Given the description of an element on the screen output the (x, y) to click on. 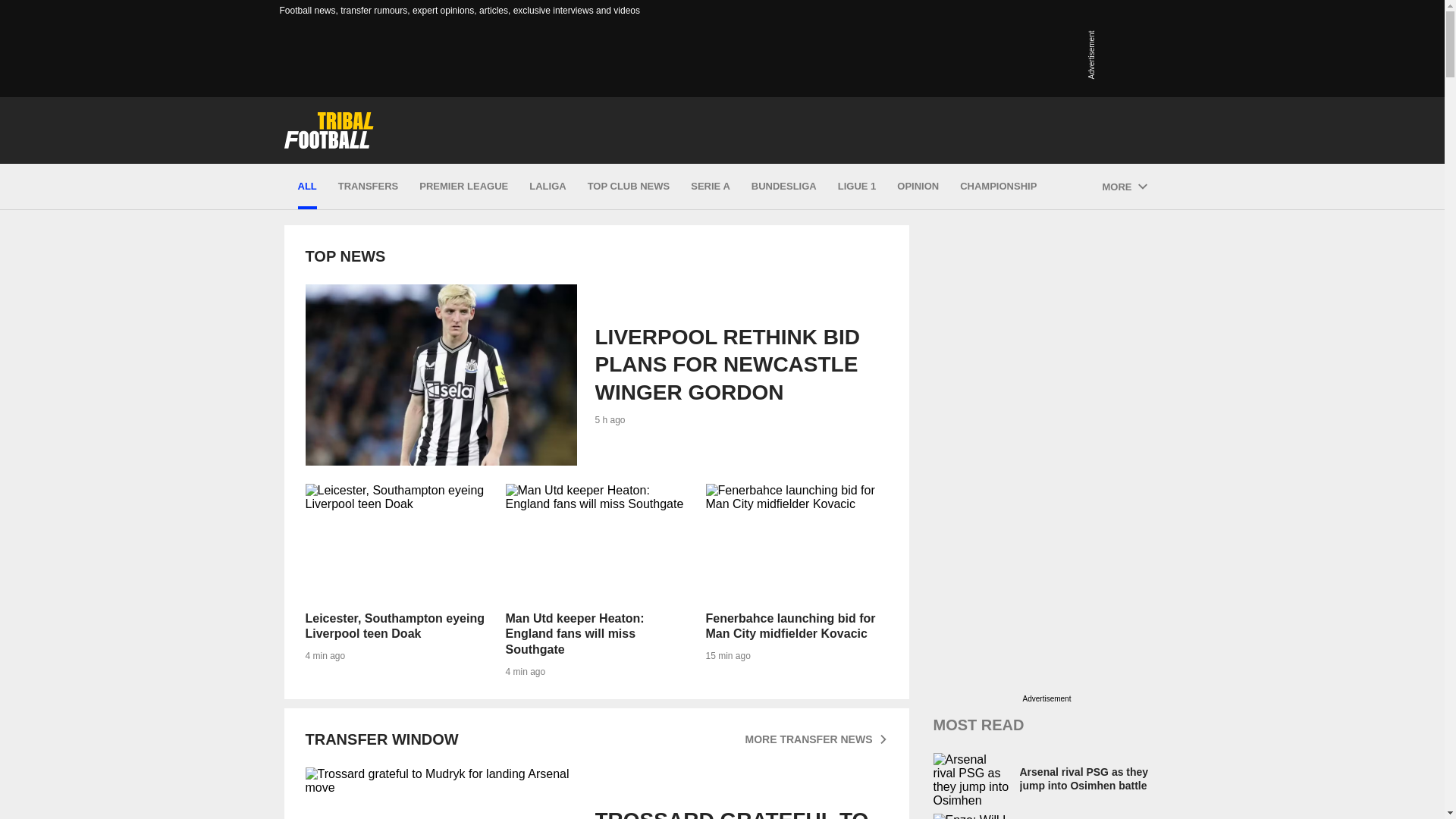
PREMIER LEAGUE (463, 186)
Fenerbahce launching bid for Man City midfielder Kovacic  (795, 544)
Liverpool rethink bid plans for Newcastle winger Gordon (595, 375)
Trossard grateful to Mudryk for landing Arsenal move (395, 581)
Leicester, Southampton eyeing Liverpool teen Doak (595, 793)
ALL (395, 544)
MORE TRANSFER NEWS (306, 186)
SERIE A (595, 793)
OPINION (815, 739)
Man Utd keeper Heaton: England fans will miss Southgate (710, 186)
LALIGA (917, 186)
